Given the description of an element on the screen output the (x, y) to click on. 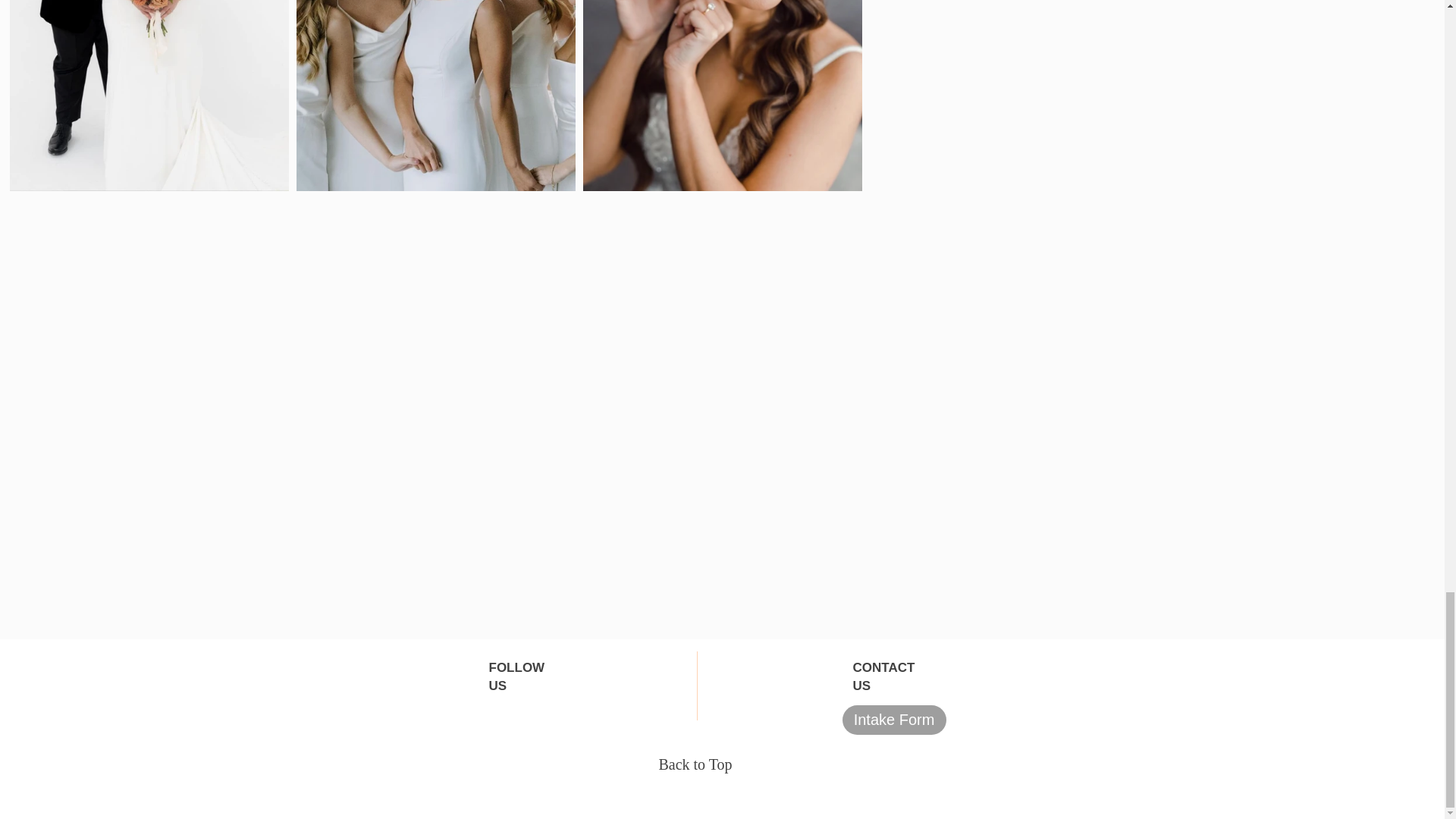
Intake Form (892, 719)
Back to Top (694, 764)
